Given the description of an element on the screen output the (x, y) to click on. 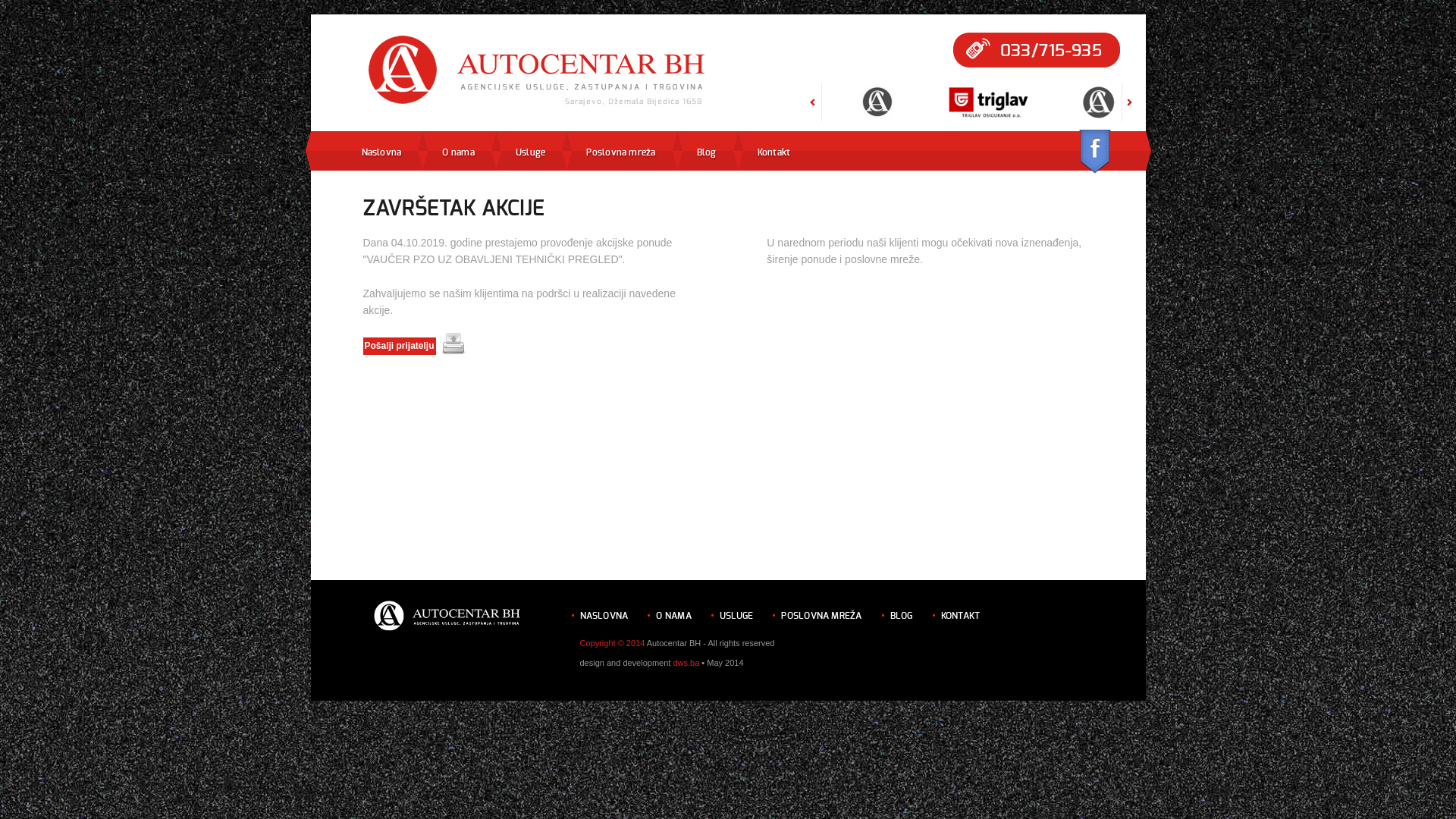
Blog Element type: text (706, 151)
ACBH Element type: hover (877, 113)
BLOG Element type: text (901, 614)
Next Element type: hover (1129, 116)
NASLOVNA Element type: text (603, 614)
AC Element type: hover (1098, 113)
AutoCentar BH Element type: hover (537, 71)
TRO Element type: hover (987, 113)
Print Element type: hover (453, 343)
Previous Element type: hover (812, 116)
dws.ba Element type: text (685, 662)
O nama Element type: text (457, 151)
O NAMA Element type: text (672, 614)
USLUGE Element type: text (736, 614)
TRO1 Element type: hover (766, 113)
Kontakt Element type: text (773, 151)
Usluge Element type: text (530, 151)
KONTAKT Element type: text (960, 614)
Naslovna Element type: text (380, 151)
